Given the description of an element on the screen output the (x, y) to click on. 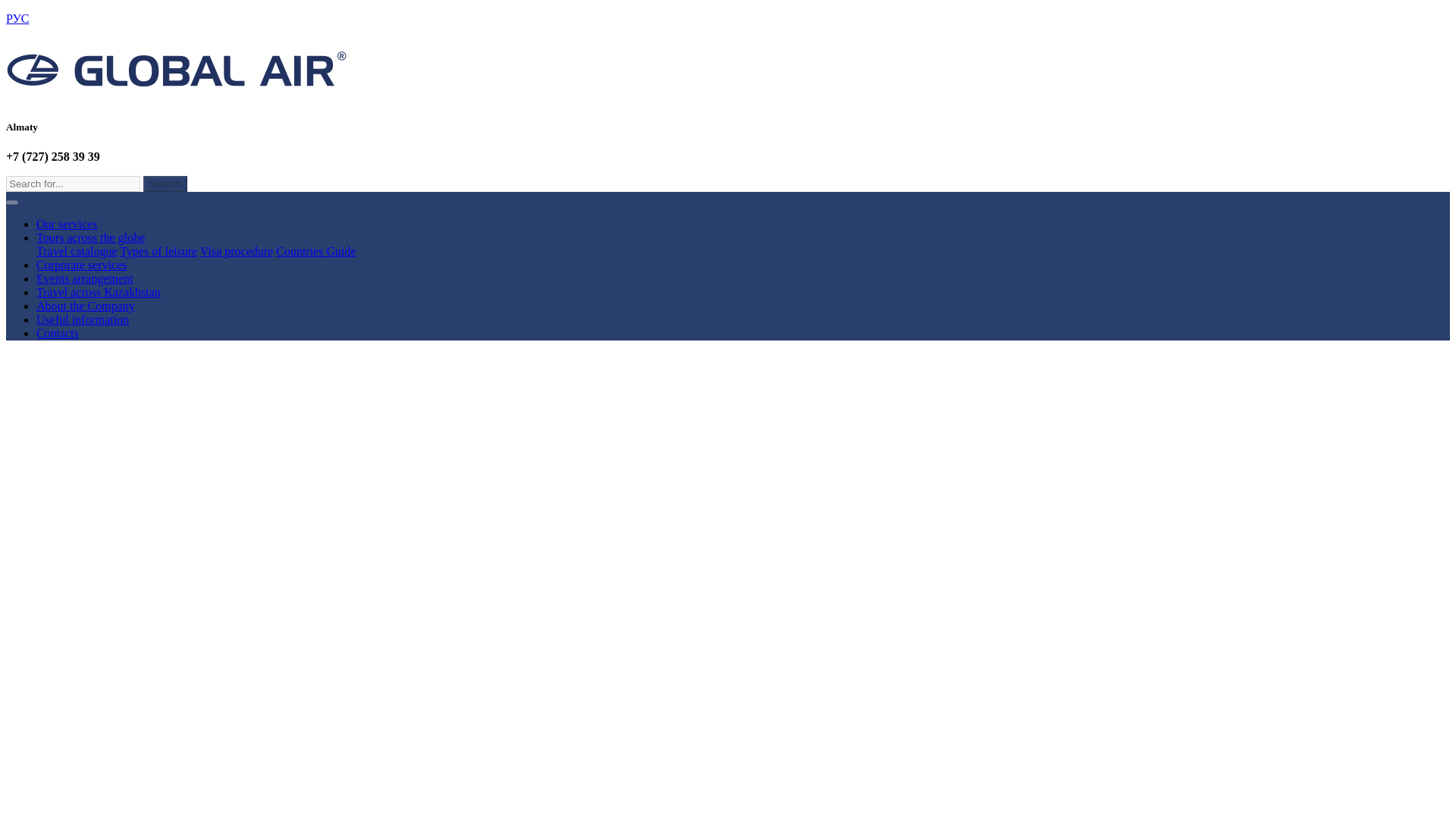
Types of leisure (157, 250)
Facebook (1410, 204)
Useful information (82, 318)
Tours across the globe (90, 237)
Search (164, 183)
Events arrangement (84, 278)
About the Company (85, 305)
Corporate services (82, 264)
Visa procedure (236, 250)
Travel catalogue (76, 250)
